Given the description of an element on the screen output the (x, y) to click on. 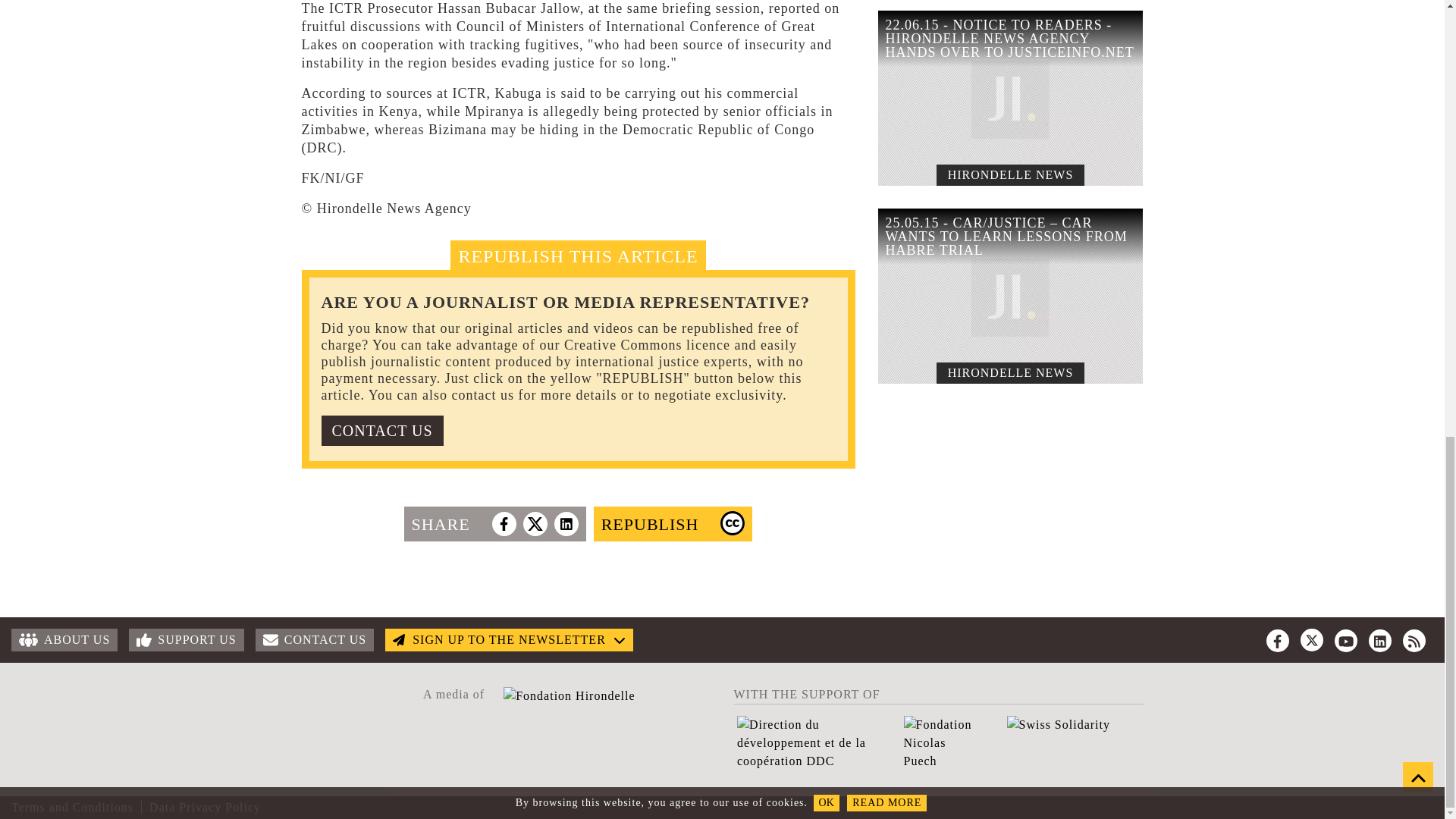
LinkedIn (1379, 640)
Youtube (1345, 640)
RSS (1414, 640)
Twitter (1311, 639)
Facebook (1277, 640)
